Given the description of an element on the screen output the (x, y) to click on. 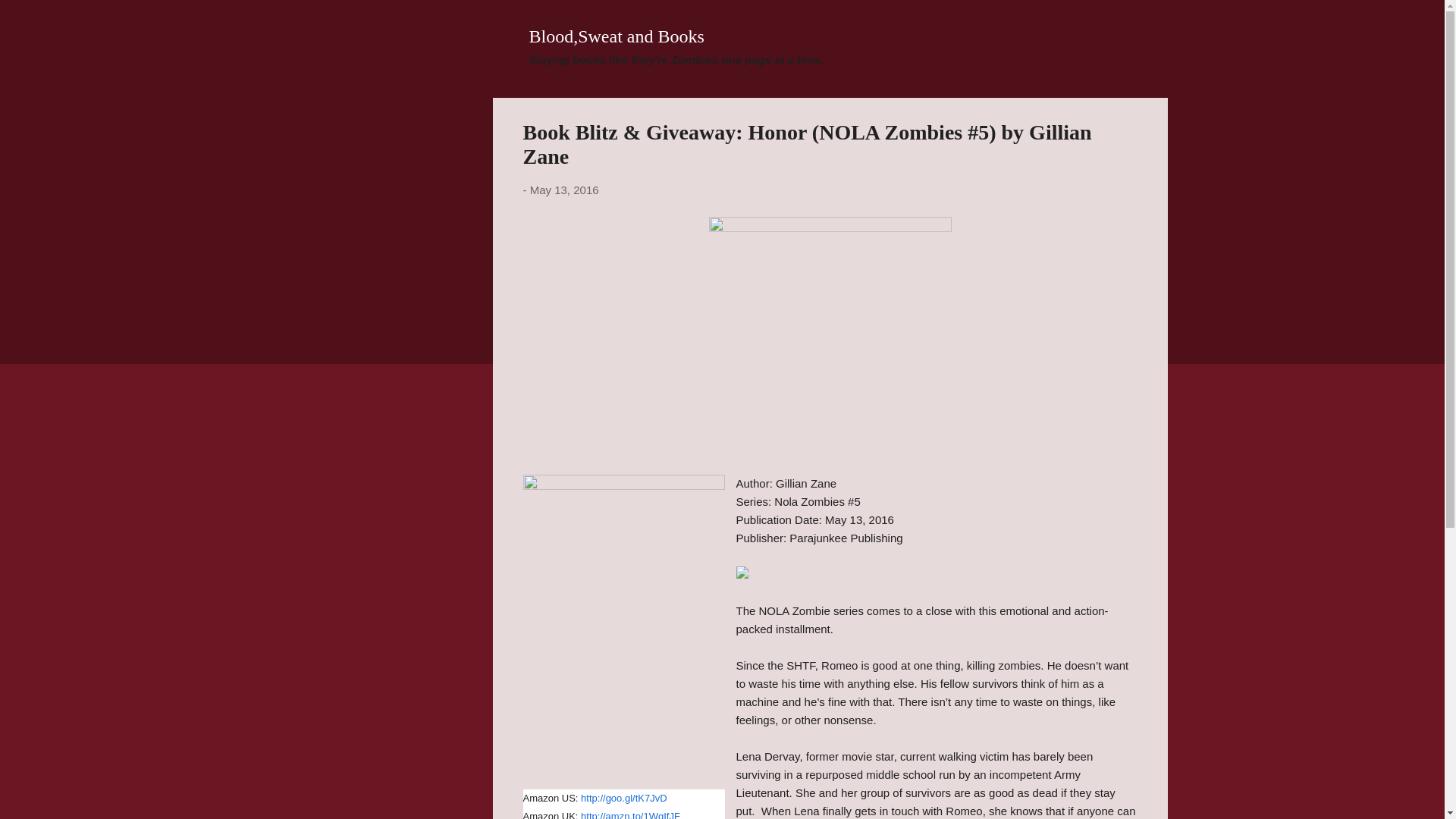
permanent link (563, 189)
May 13, 2016 (563, 189)
Search (29, 18)
Blood,Sweat and Books (616, 35)
